Given the description of an element on the screen output the (x, y) to click on. 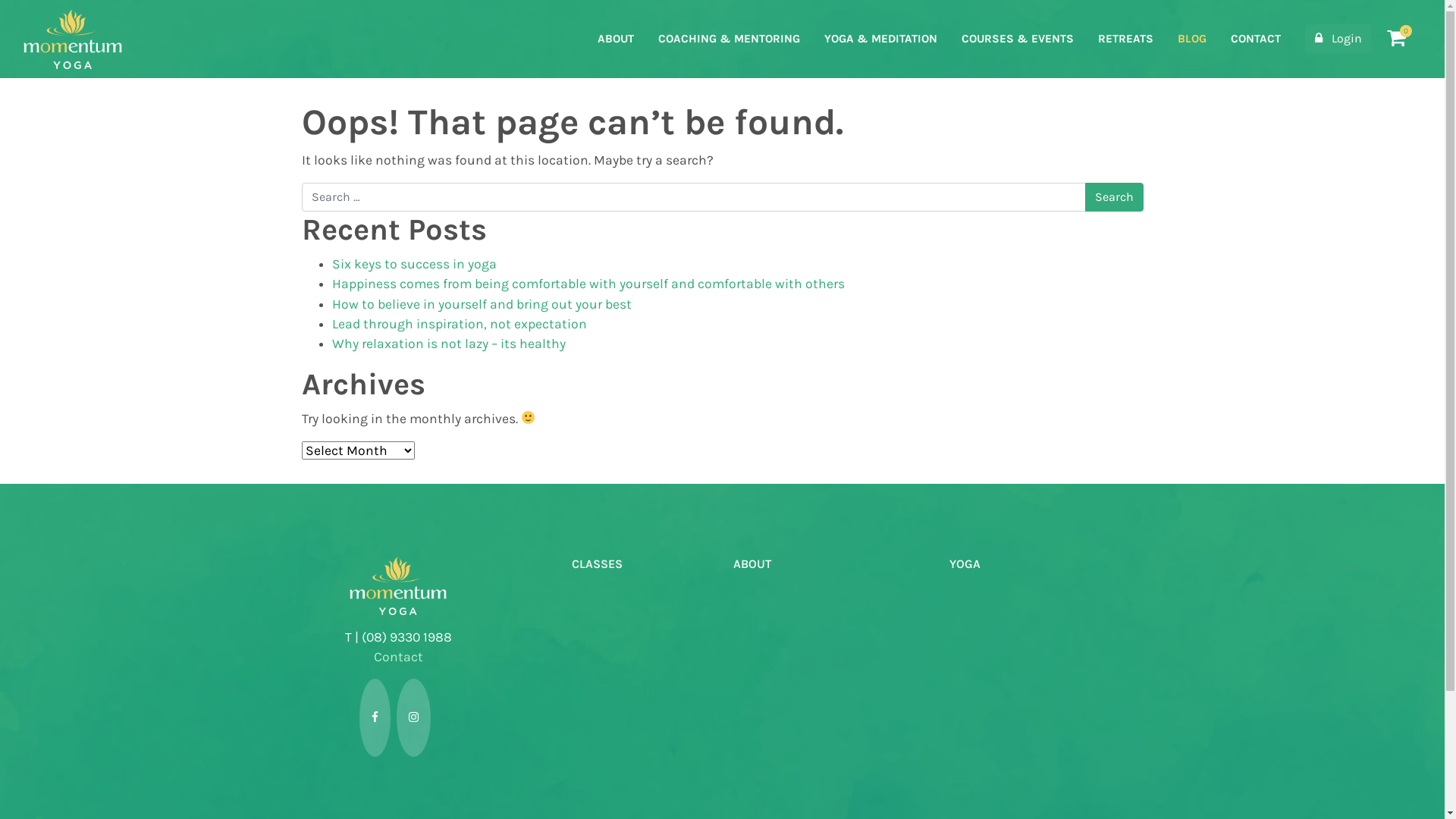
CONTACT Element type: text (1255, 39)
BLOG Element type: text (1191, 39)
ABOUT Element type: text (615, 39)
YOGA & MEDITATION Element type: text (880, 39)
Search Element type: text (1113, 196)
Contact Element type: text (397, 656)
Lead through inspiration, not expectation Element type: text (459, 323)
COACHING & MENTORING Element type: text (729, 39)
Login Element type: text (1338, 38)
Six keys to success in yoga Element type: text (414, 263)
How to believe in yourself and bring out your best Element type: text (481, 303)
COURSES & EVENTS Element type: text (1017, 39)
RETREATS Element type: text (1125, 39)
